Given the description of an element on the screen output the (x, y) to click on. 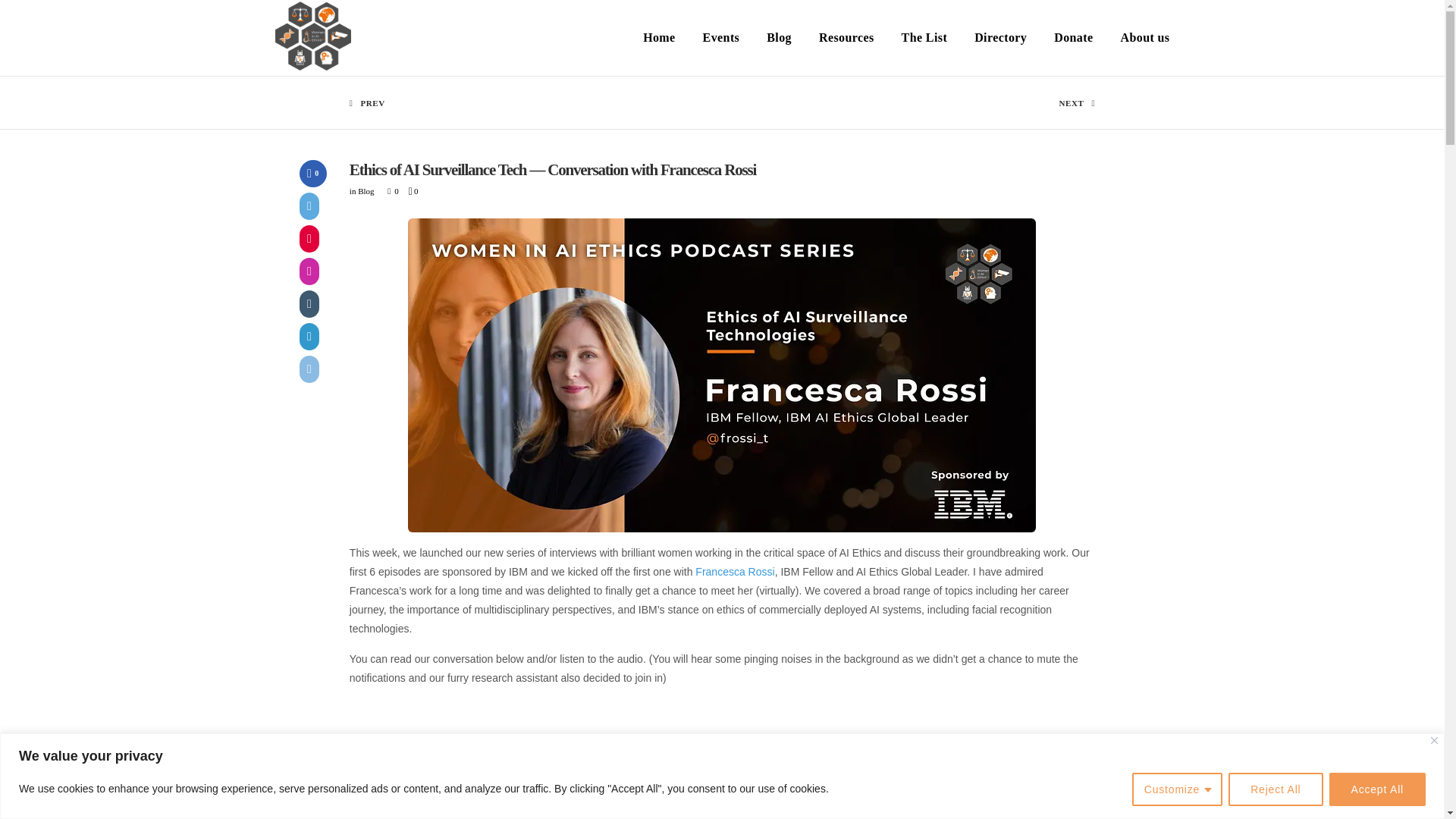
Reject All (1275, 788)
Site logo (312, 38)
Accept All (1377, 788)
Customize (1177, 788)
